Given the description of an element on the screen output the (x, y) to click on. 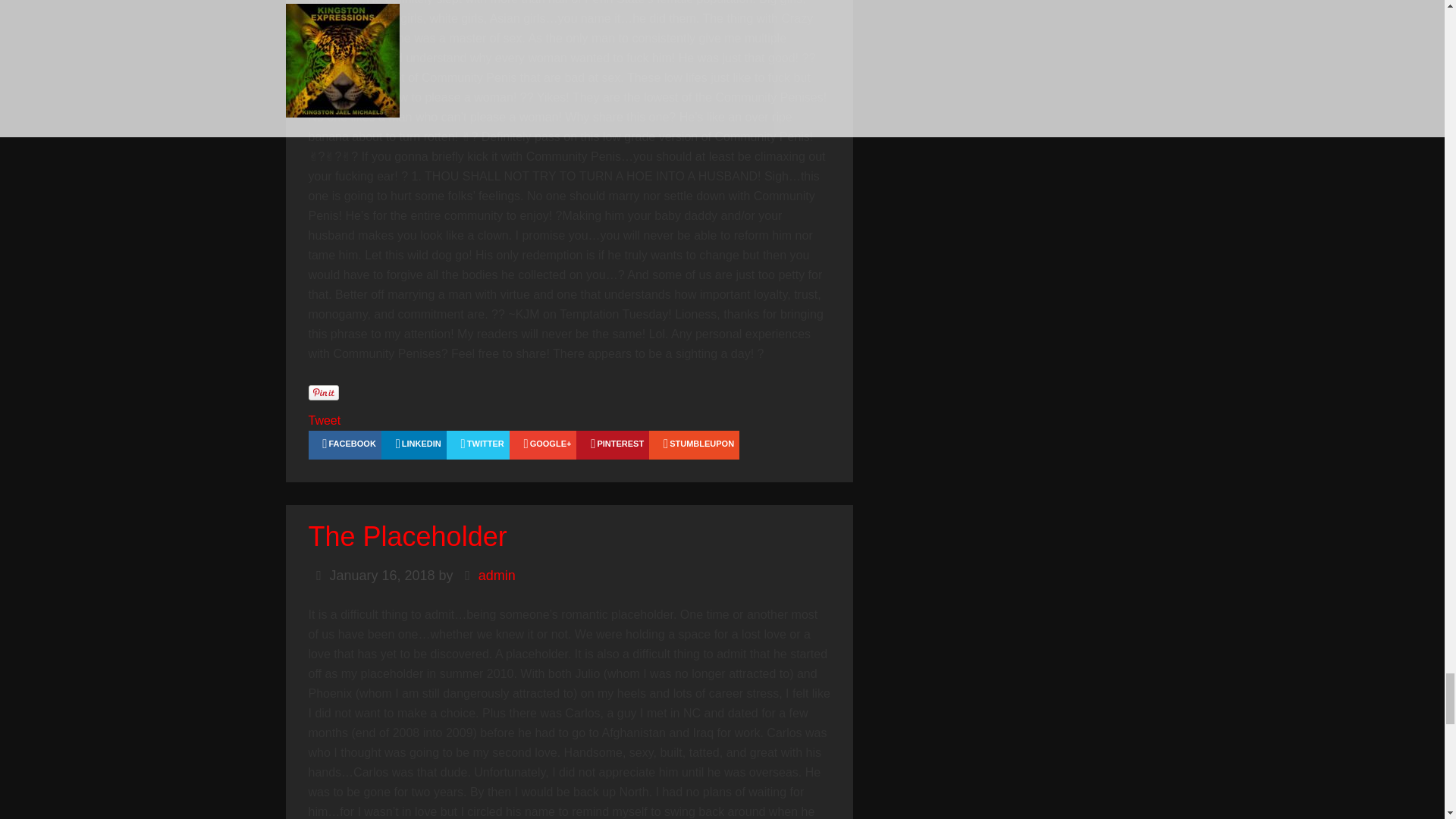
Pin It (322, 392)
